Given the description of an element on the screen output the (x, y) to click on. 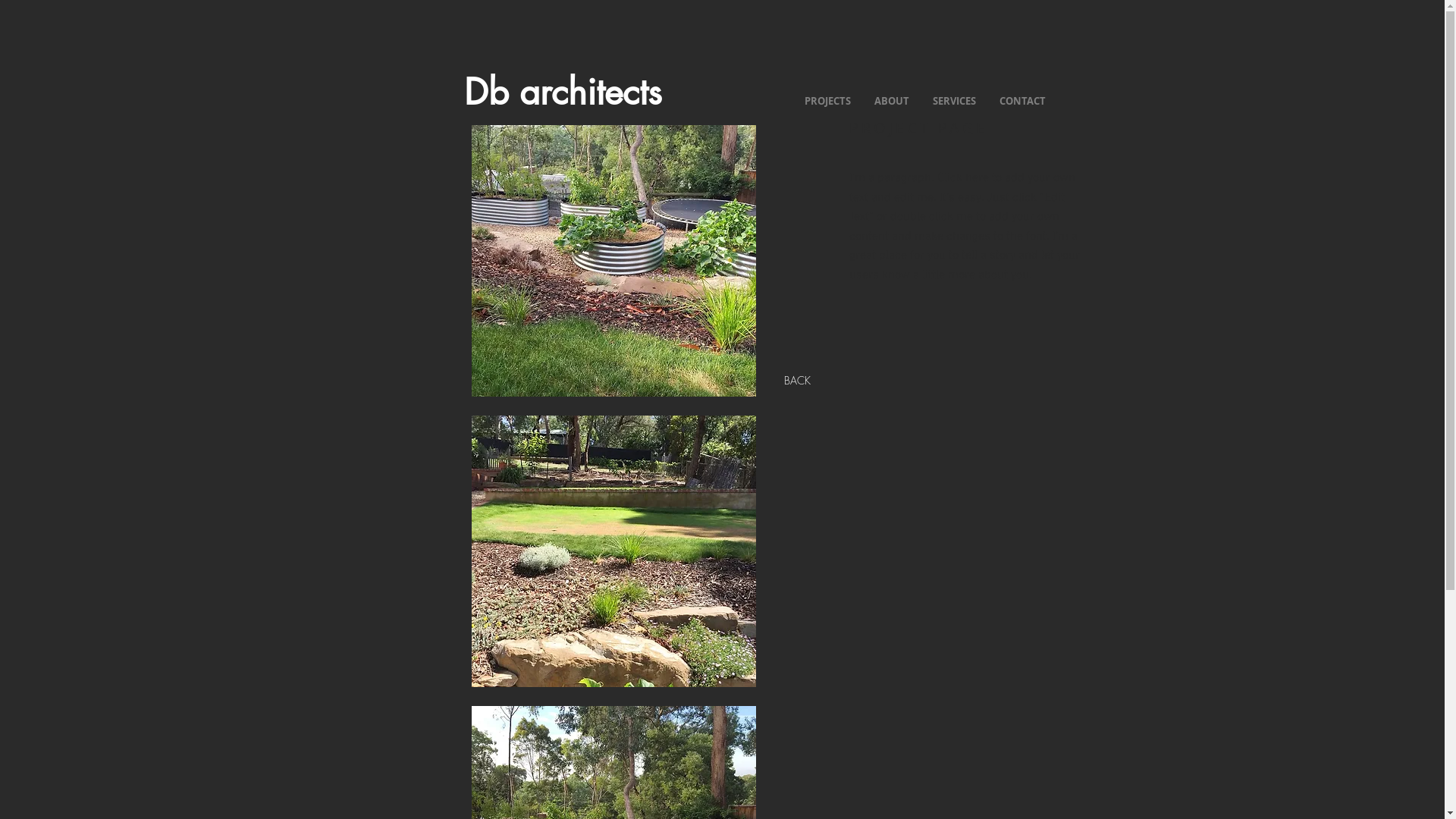
PROJECTS Element type: text (827, 100)
BACK Element type: text (797, 380)
CONTACT Element type: text (1022, 100)
ABOUT Element type: text (891, 100)
SERVICES Element type: text (953, 100)
